Given the description of an element on the screen output the (x, y) to click on. 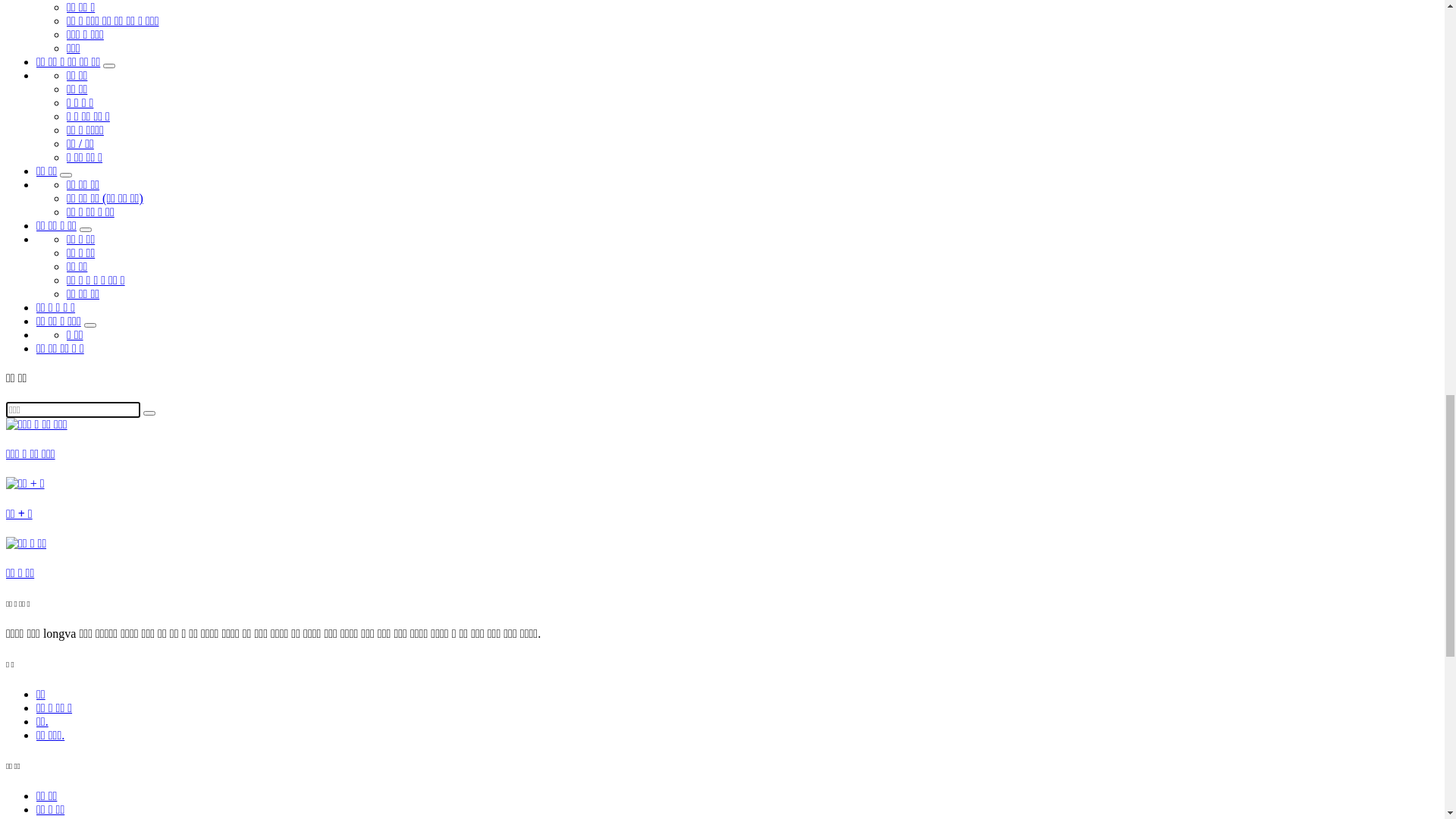
+86-577-86928882 Element type: text (53, 12)
Victor.xie@longva.cc Element type: text (160, 12)
English Element type: text (69, 39)
